Given the description of an element on the screen output the (x, y) to click on. 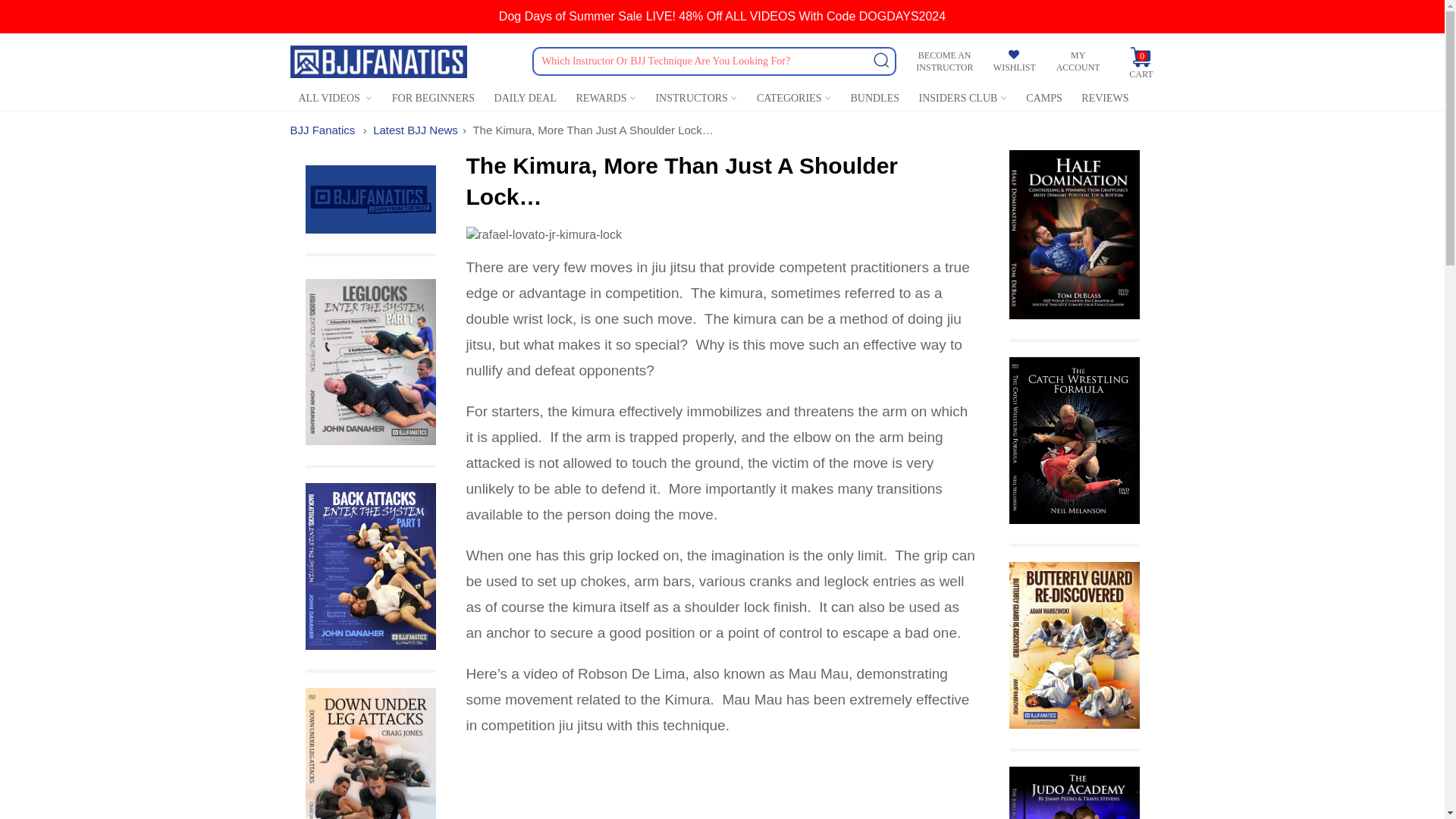
Home (322, 129)
Become An Instructor (943, 61)
